Given the description of an element on the screen output the (x, y) to click on. 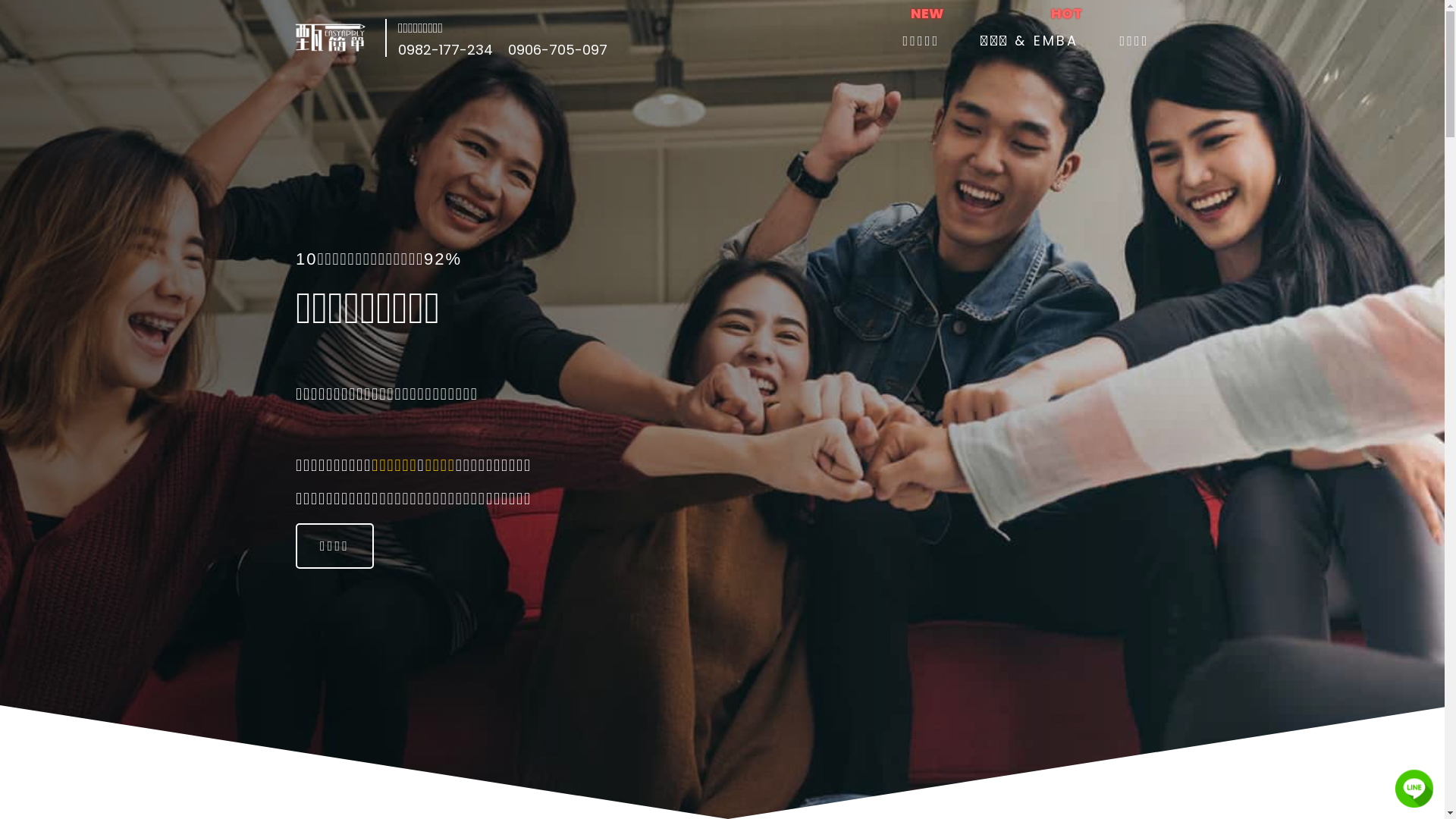
0982-177-234 Element type: text (445, 49)
0906-705-097 Element type: text (557, 49)
